Given the description of an element on the screen output the (x, y) to click on. 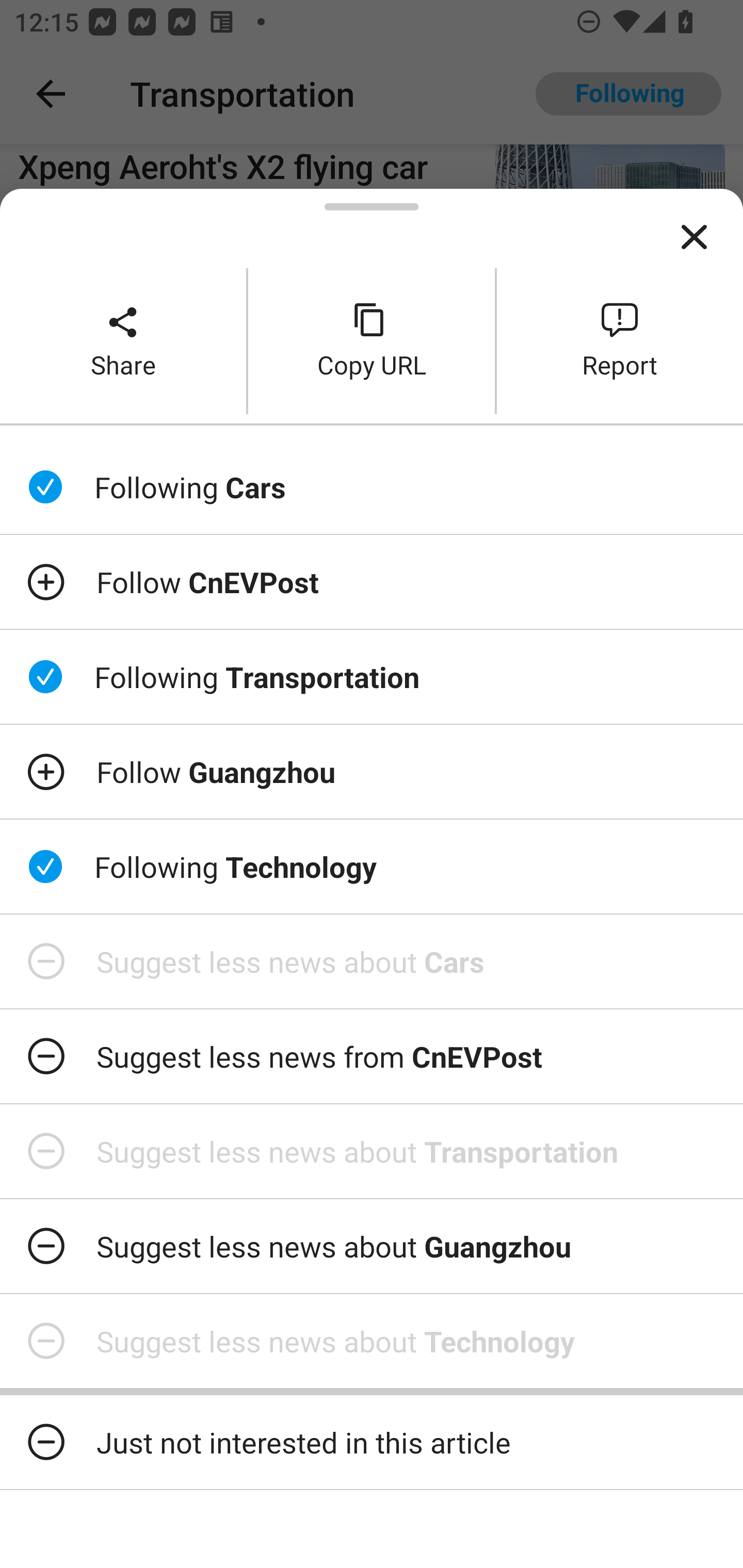
Close (694, 237)
Share (122, 340)
Copy URL (371, 340)
Report (620, 340)
Following Cars (371, 486)
Follow CnEVPost (371, 581)
Following Transportation (371, 677)
Follow Guangzhou (371, 771)
Following Technology (371, 867)
Suggest less news from CnEVPost (371, 1056)
Suggest less news about Guangzhou (371, 1246)
Just not interested in this article (371, 1442)
